Given the description of an element on the screen output the (x, y) to click on. 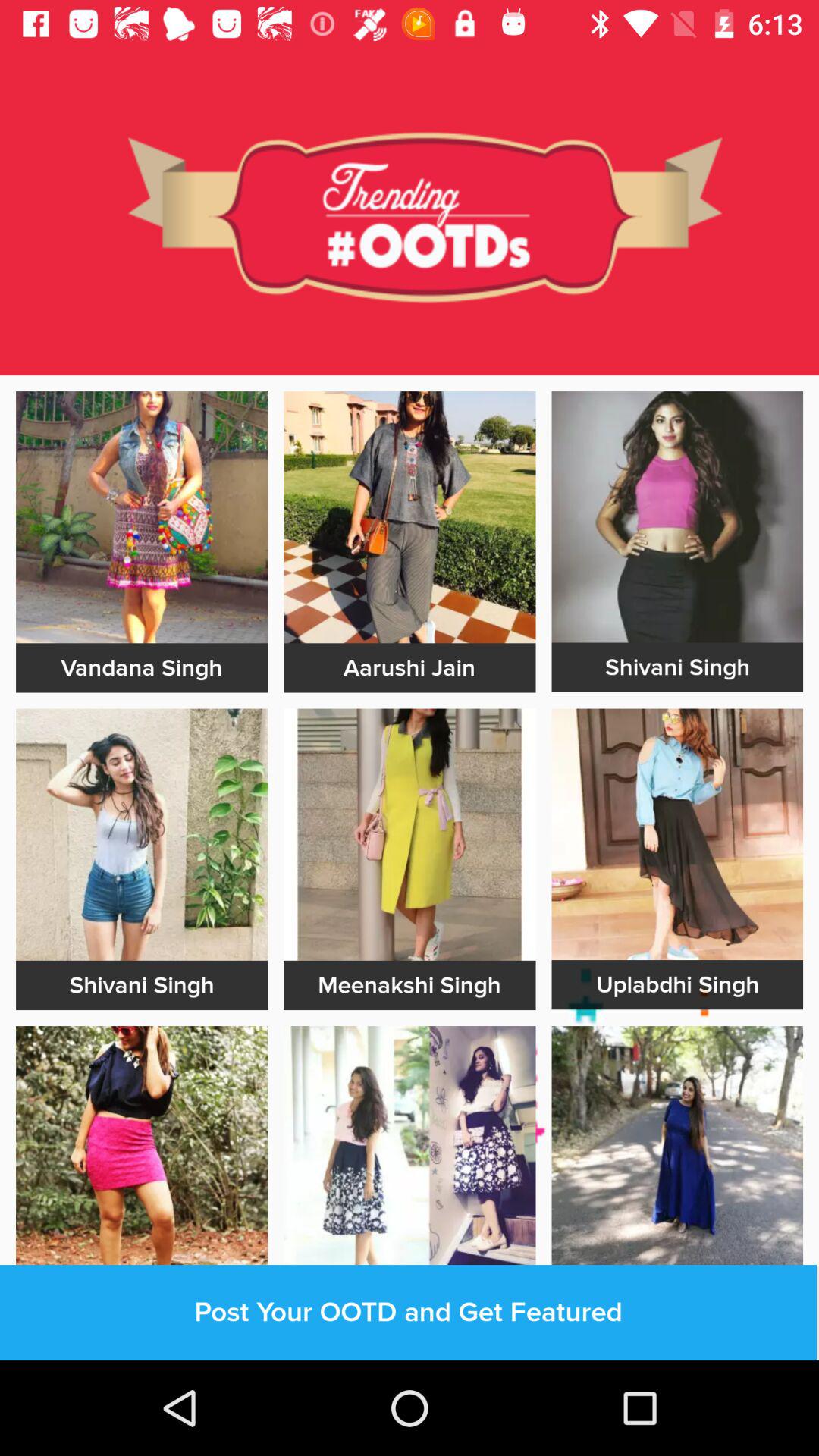
open that outfit pic (677, 1151)
